Given the description of an element on the screen output the (x, y) to click on. 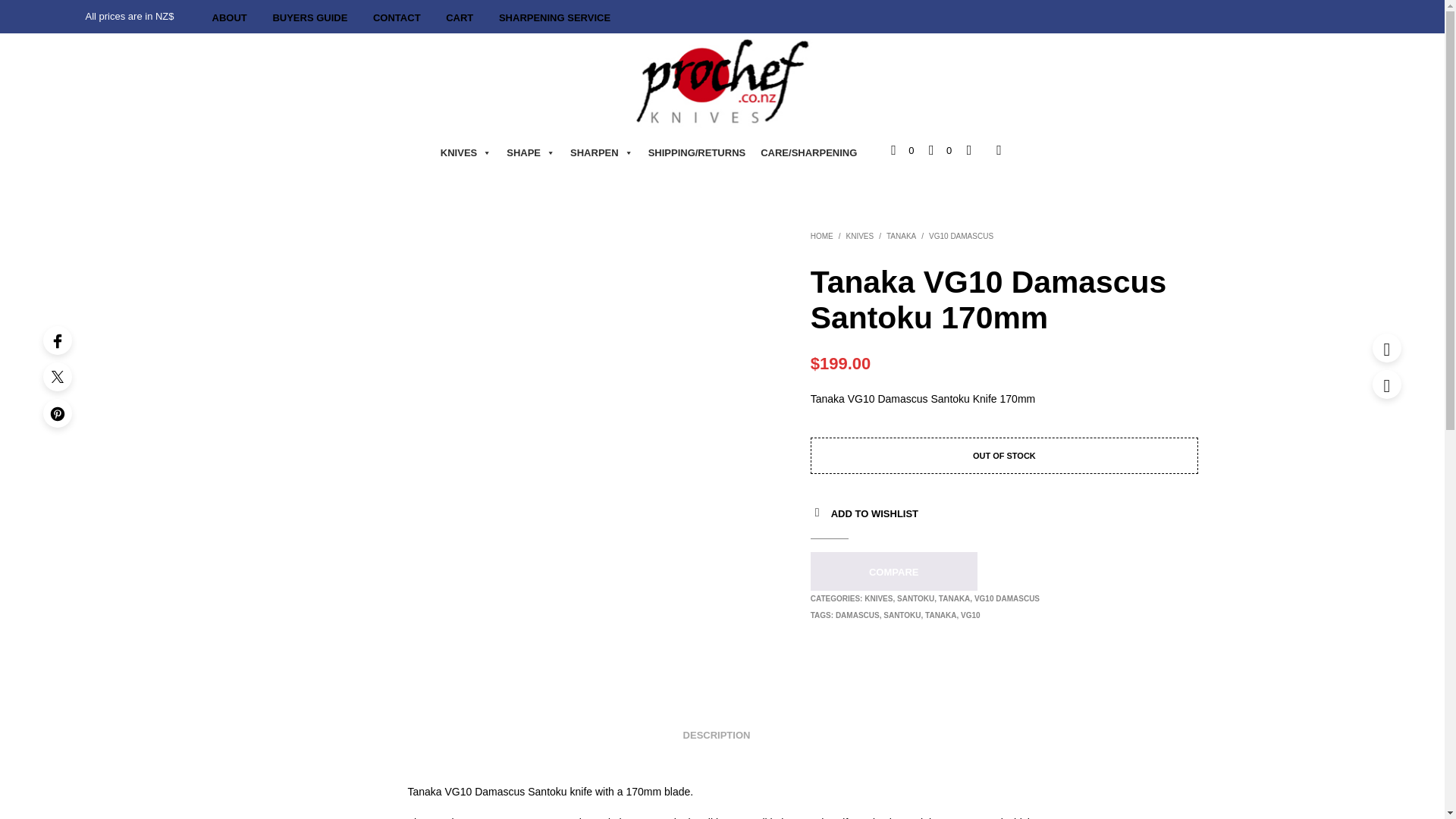
CONTACT (396, 17)
ABOUT (229, 17)
SHARPENING SERVICE (554, 17)
BUYERS GUIDE (309, 17)
KNIVES (465, 153)
CART (458, 17)
